Given the description of an element on the screen output the (x, y) to click on. 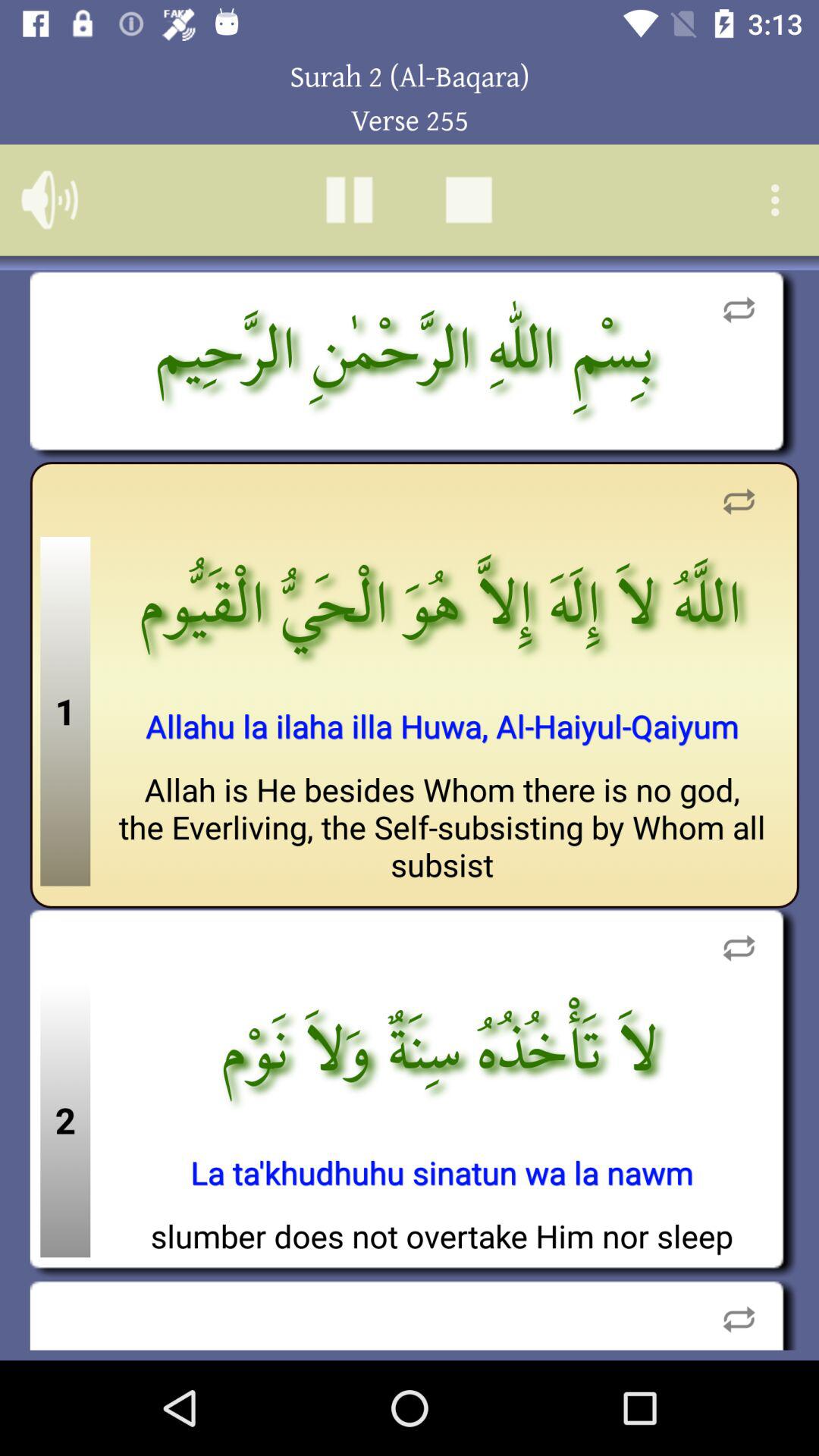
volume option (49, 199)
